Given the description of an element on the screen output the (x, y) to click on. 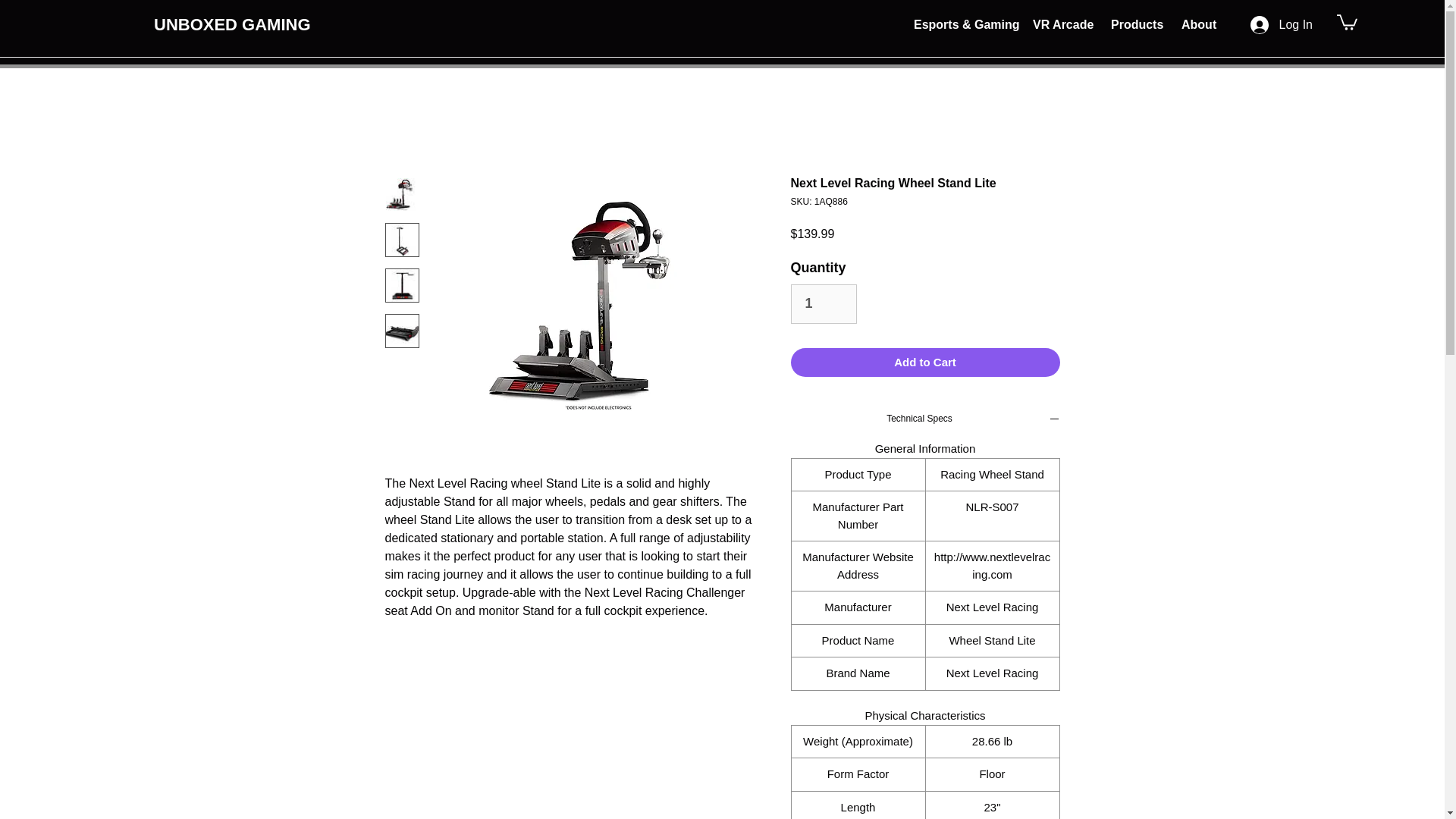
1 (823, 303)
Products (1134, 24)
Add to Cart (924, 362)
Technical Specs (924, 420)
VR Arcade (1060, 24)
About (1197, 24)
UNBOXED GAMING (232, 24)
Log In (1281, 24)
